Given the description of an element on the screen output the (x, y) to click on. 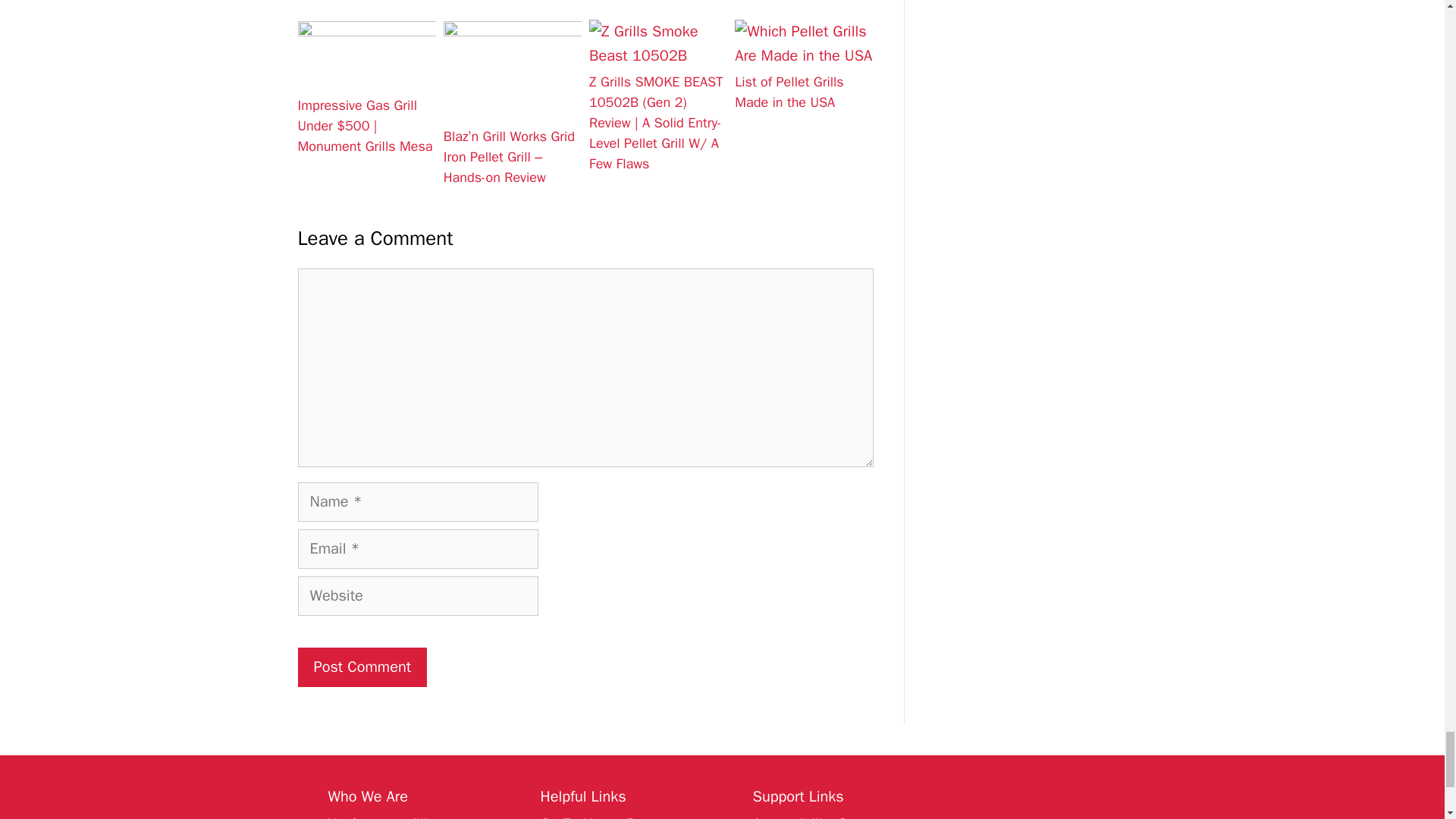
Post Comment (361, 667)
